Given the description of an element on the screen output the (x, y) to click on. 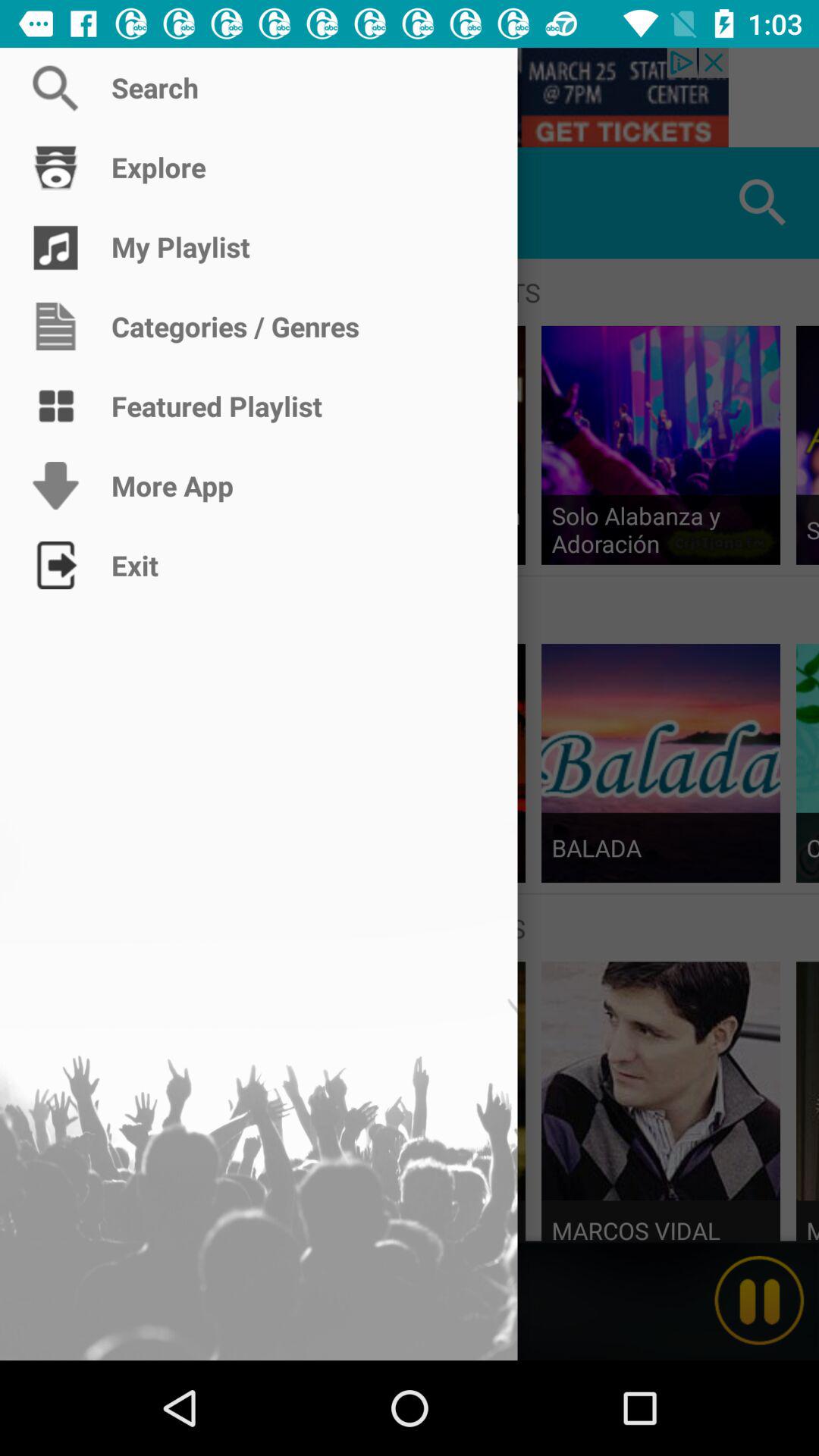
click the icon above the featured playlists icon (55, 202)
